Given the description of an element on the screen output the (x, y) to click on. 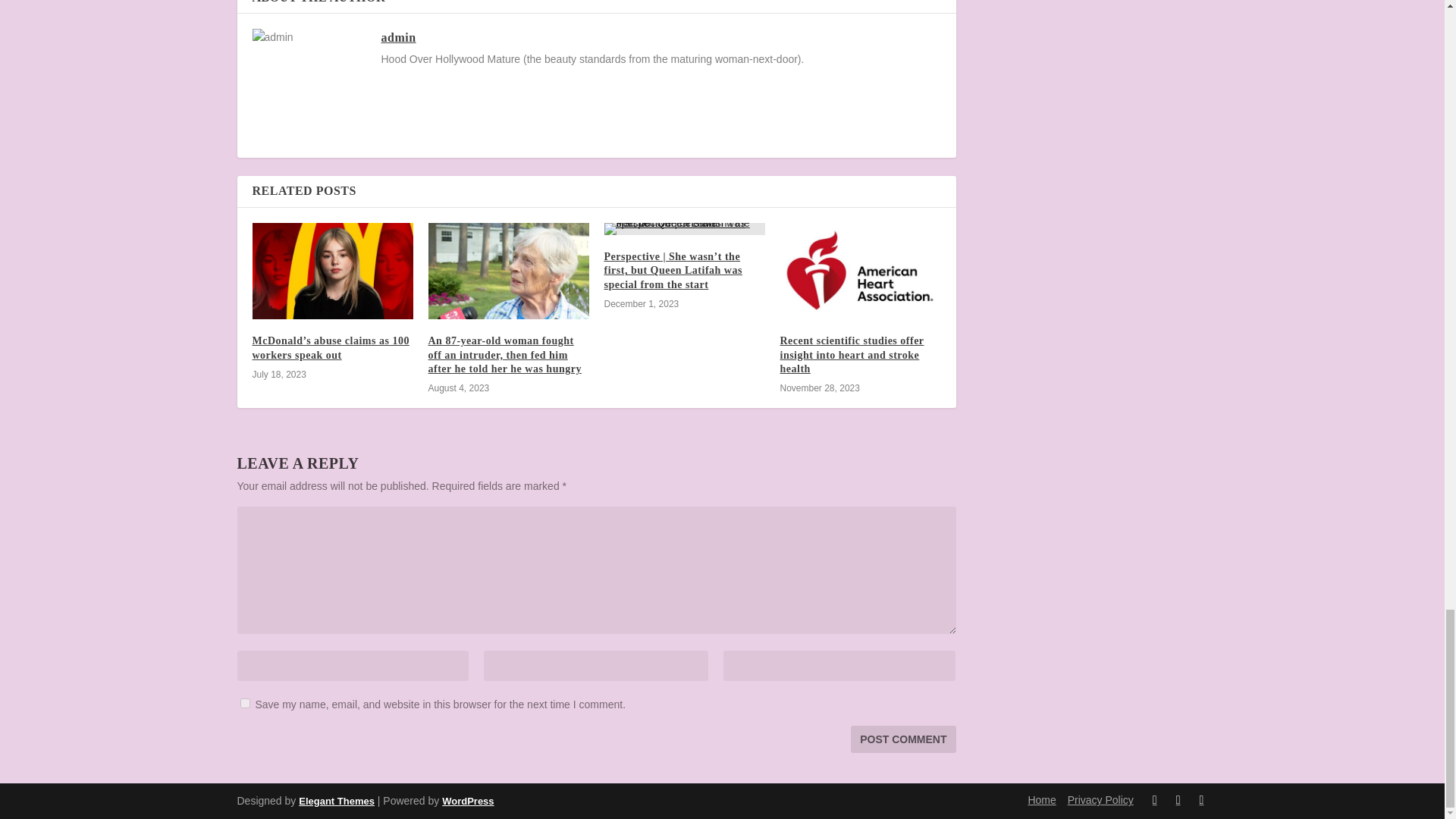
yes (244, 703)
Post Comment (902, 738)
